Given the description of an element on the screen output the (x, y) to click on. 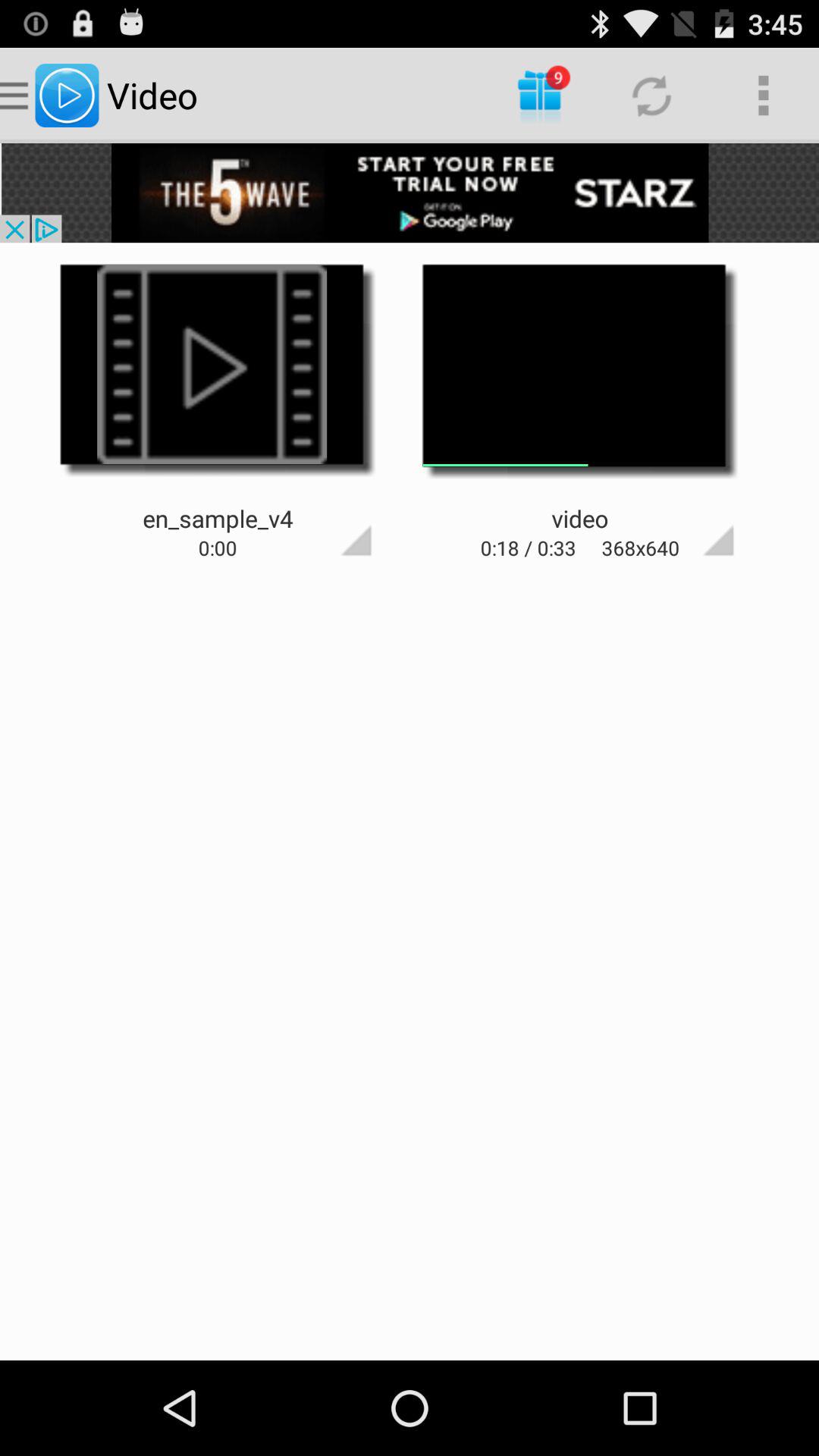
open options (329, 513)
